Given the description of an element on the screen output the (x, y) to click on. 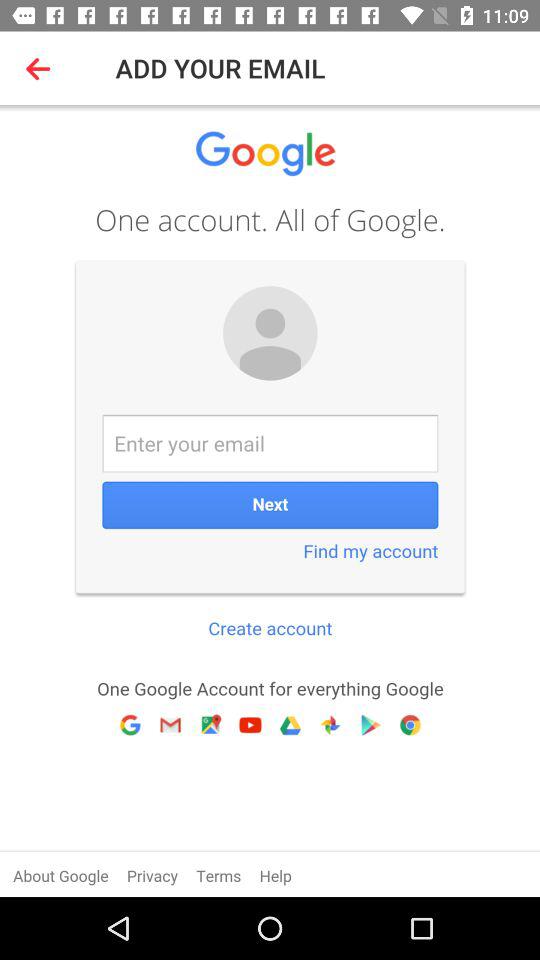
go to advertisement (270, 501)
